Given the description of an element on the screen output the (x, y) to click on. 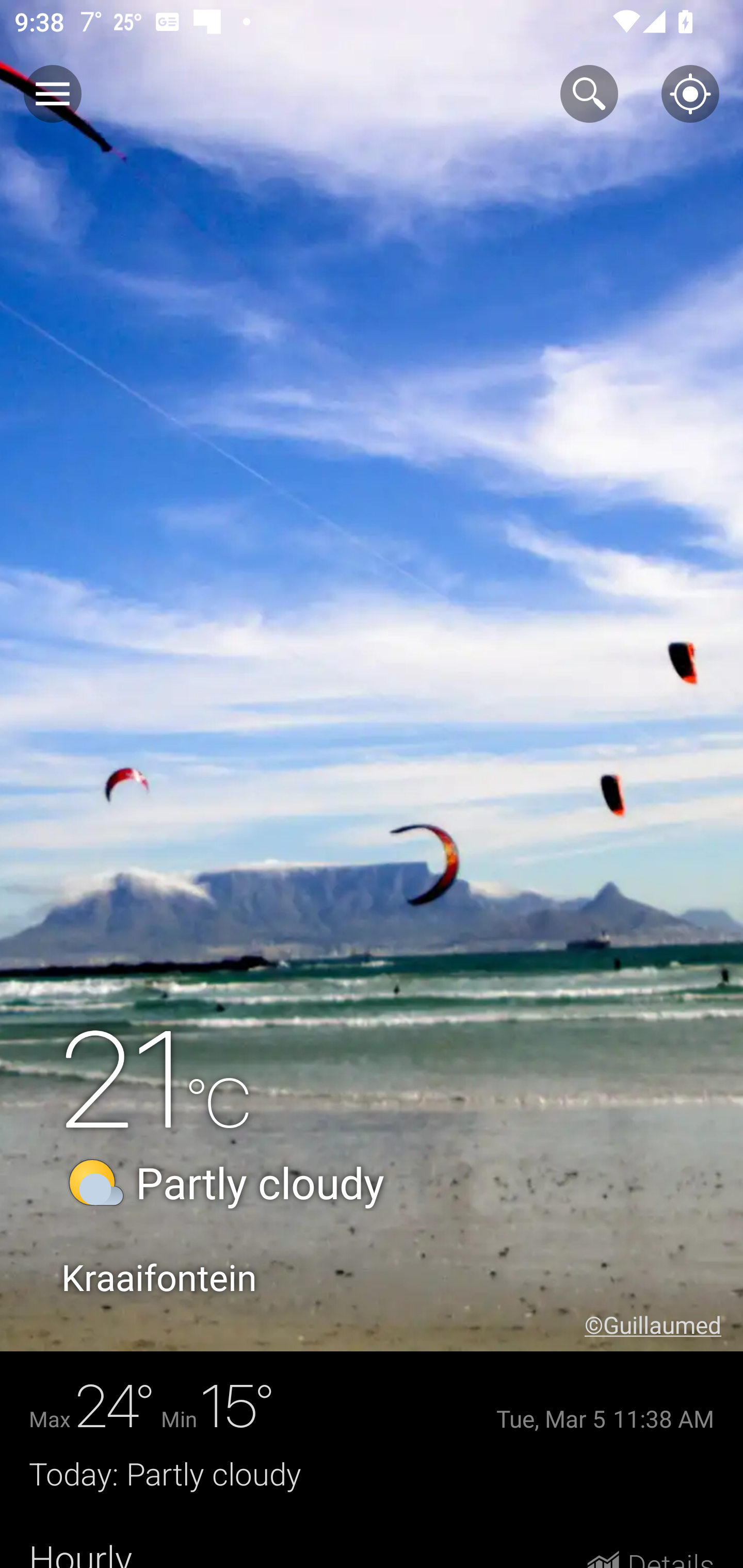
©Guillaumed (663, 1324)
